Given the description of an element on the screen output the (x, y) to click on. 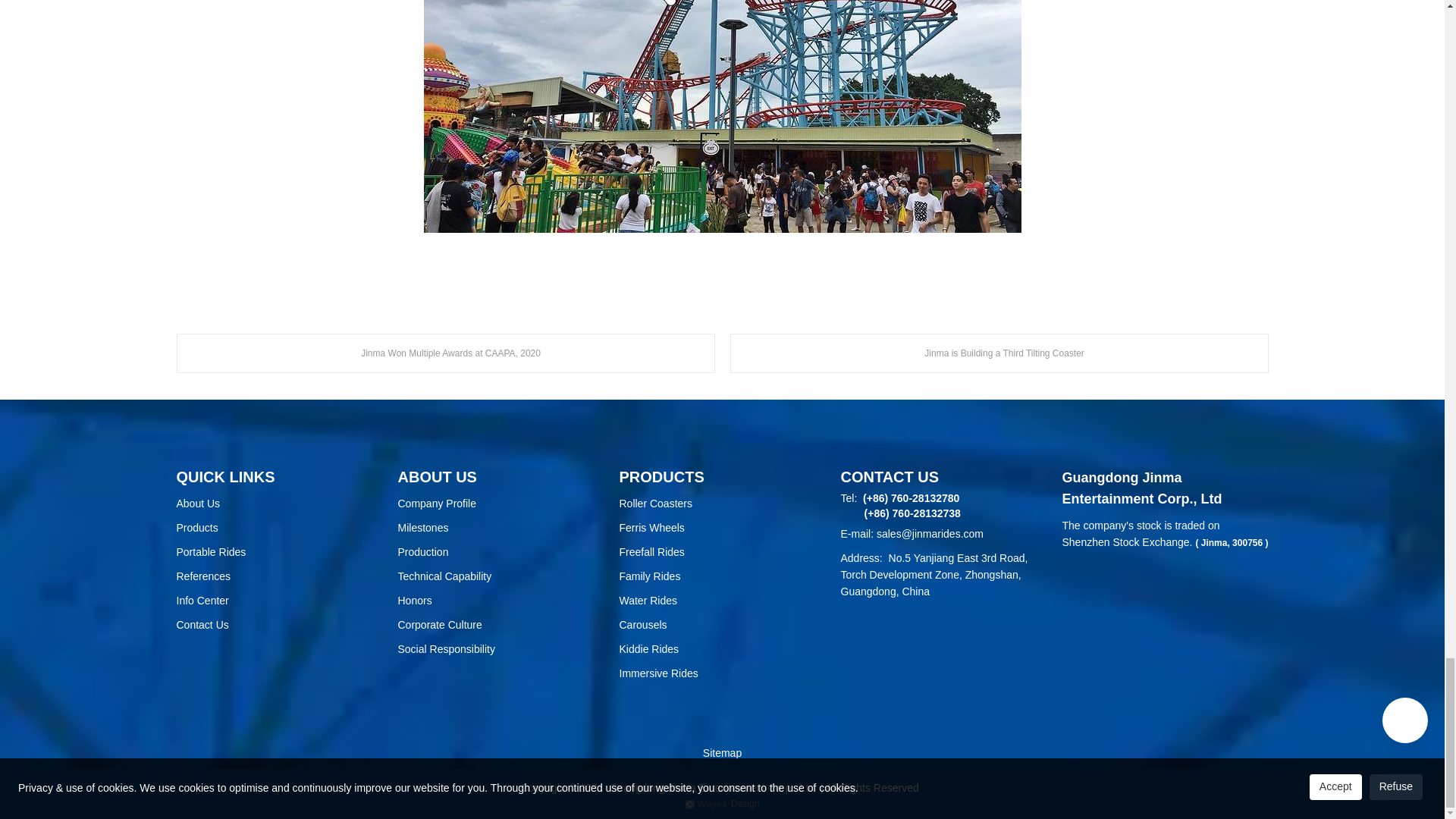
Products (278, 527)
Jinma Won Multiple Awards at  CAAPA, 2020 (445, 353)
Jinma is Building a Third Tilting Coaster (998, 353)
Portable Rides (278, 551)
About Us (278, 503)
Jinma Won Multiple Awards at CAAPA, 2020 (445, 353)
Jinma is Building a Third Tilting Coaster (998, 353)
